Given the description of an element on the screen output the (x, y) to click on. 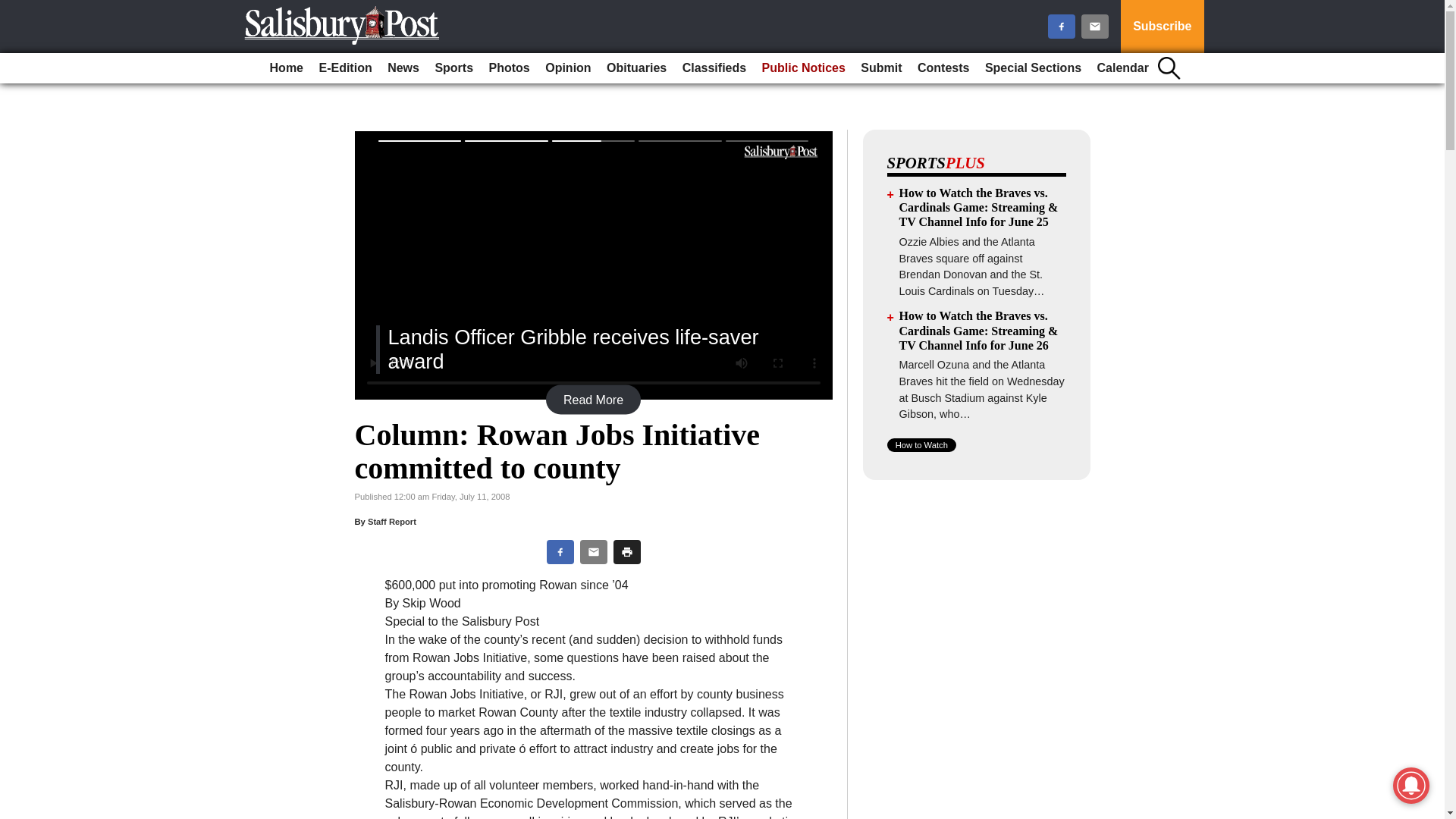
Subscribe (1162, 26)
Opinion (567, 68)
Public Notices (803, 68)
News (403, 68)
Submit (880, 68)
Special Sections (1032, 68)
Sports (453, 68)
Home (285, 68)
Contests (943, 68)
E-Edition (345, 68)
Obituaries (635, 68)
Classifieds (714, 68)
Photos (509, 68)
